Given the description of an element on the screen output the (x, y) to click on. 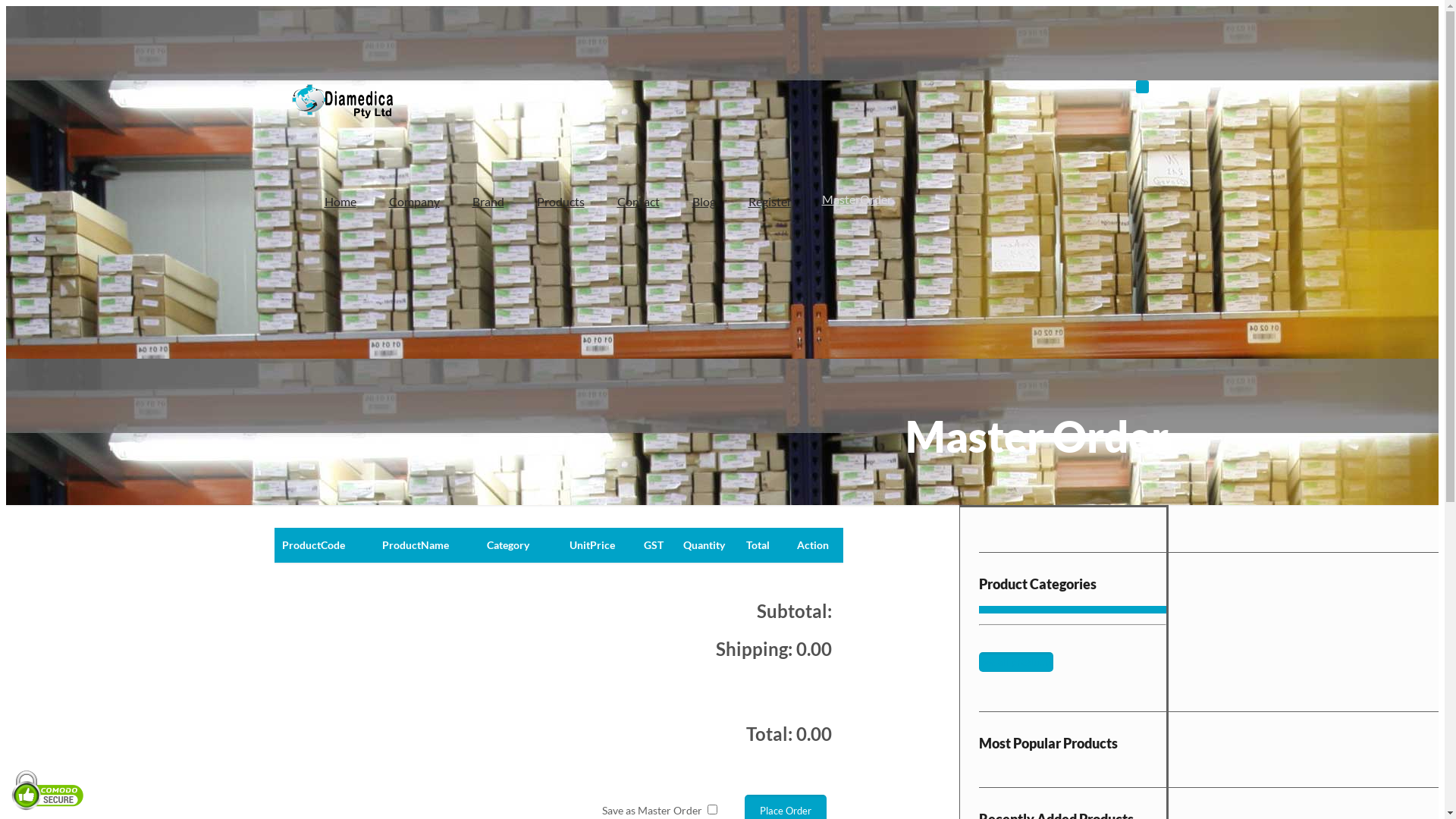
Contact Element type: text (636, 201)
Diamedica Element type: hover (342, 97)
See all products Element type: text (1015, 661)
Products Element type: text (558, 201)
Blog Element type: text (702, 201)
Company Element type: text (413, 201)
Register Element type: text (768, 201)
Brand Element type: text (487, 201)
Home Element type: text (338, 201)
MasterOrder Element type: text (856, 198)
